Given the description of an element on the screen output the (x, y) to click on. 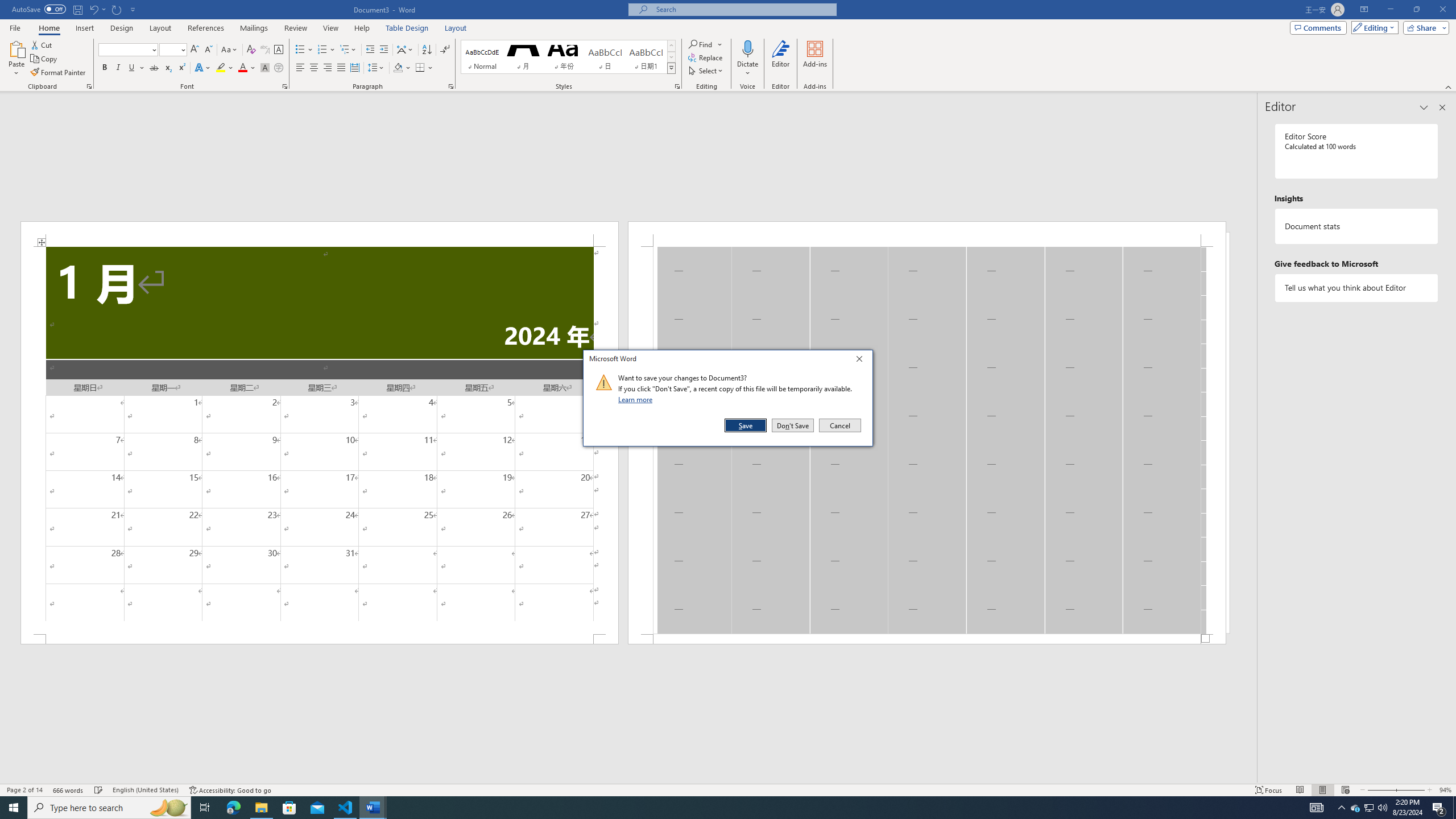
Don't Save (792, 425)
